Given the description of an element on the screen output the (x, y) to click on. 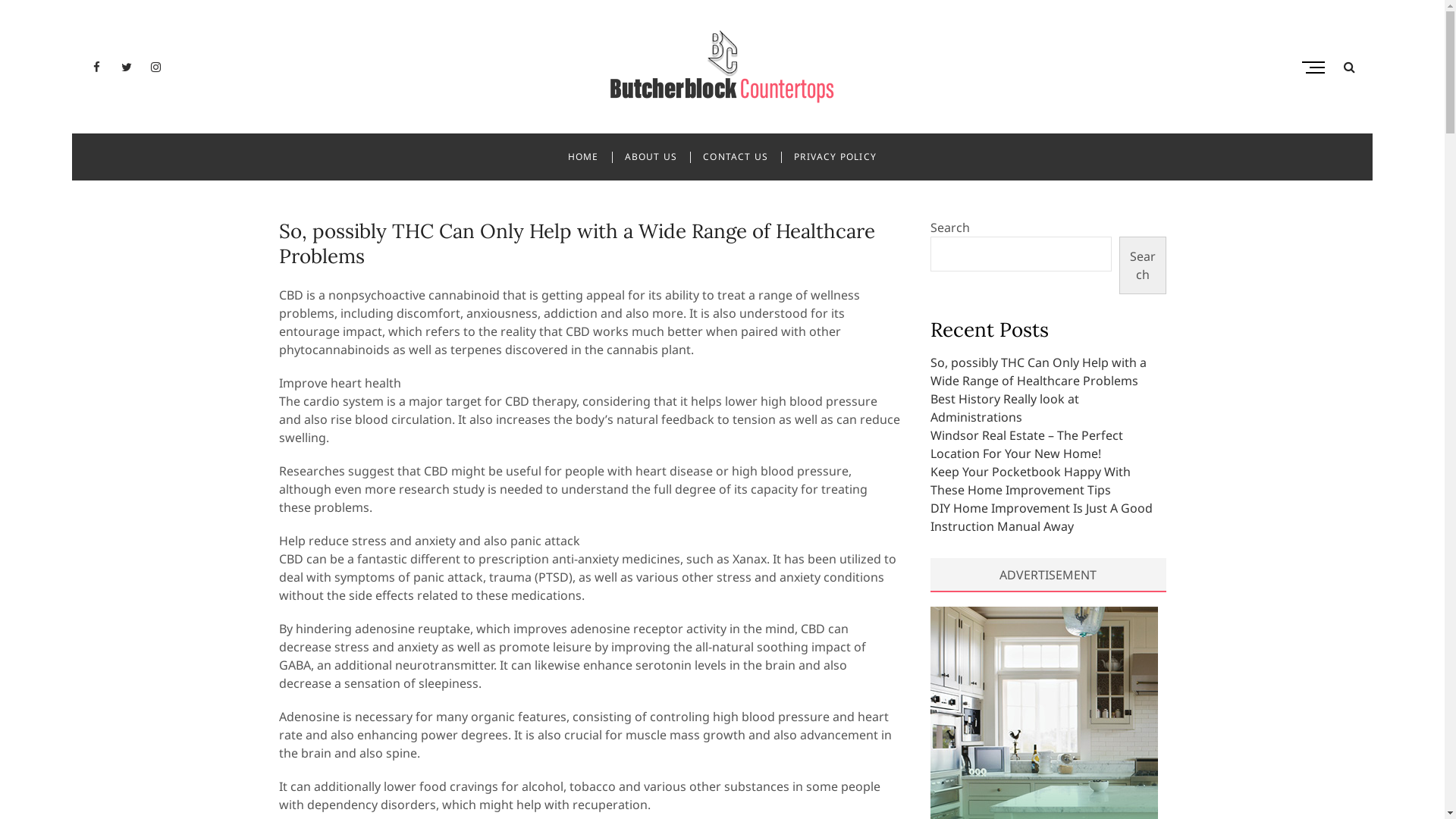
Instagram Element type: text (155, 66)
Facebook Element type: text (96, 66)
Search Element type: text (1142, 265)
Best History Really look at Administrations Element type: text (1003, 407)
Twitter Element type: text (125, 66)
ABOUT US Element type: text (651, 156)
HOME Element type: text (583, 156)
PRIVACY POLICY Element type: text (835, 156)
Menu Button Element type: text (1317, 66)
Butcherblock Countertops Element type: text (472, 119)
Keep Your Pocketbook Happy With These Home Improvement Tips Element type: text (1029, 480)
CONTACT US Element type: text (735, 156)
DIY Home Improvement Is Just A Good Instruction Manual Away Element type: text (1040, 516)
